Given the description of an element on the screen output the (x, y) to click on. 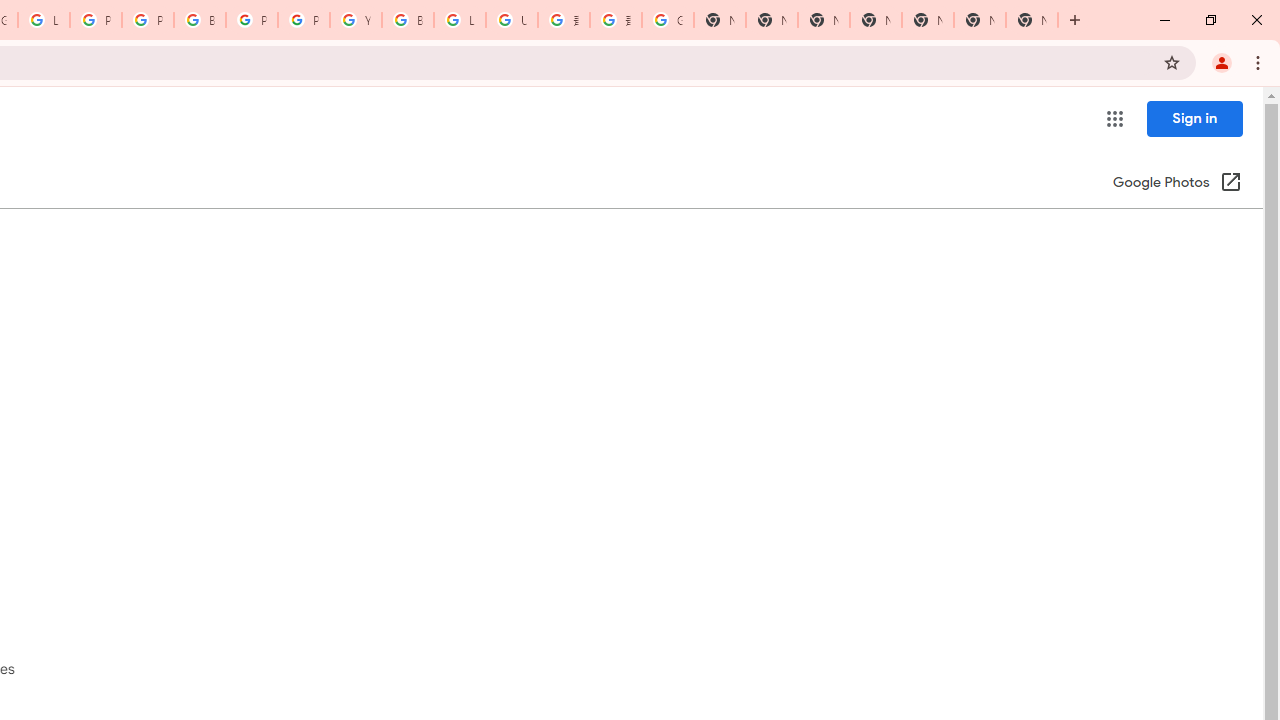
YouTube (355, 20)
New Tab (1032, 20)
Browse Chrome as a guest - Computer - Google Chrome Help (407, 20)
Privacy Help Center - Policies Help (147, 20)
New Tab (875, 20)
Google Images (667, 20)
